Given the description of an element on the screen output the (x, y) to click on. 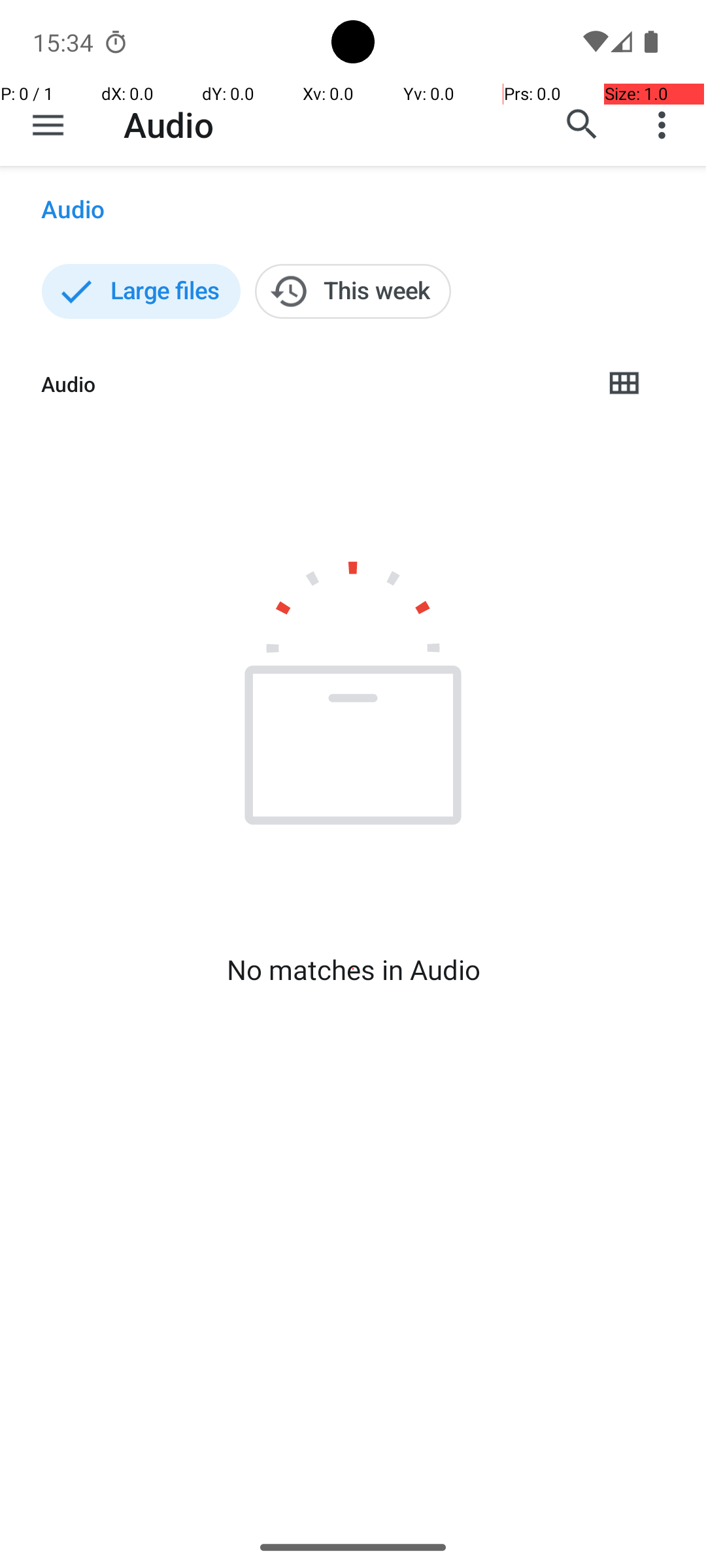
No matches in Audio Element type: android.widget.TextView (353, 968)
